Given the description of an element on the screen output the (x, y) to click on. 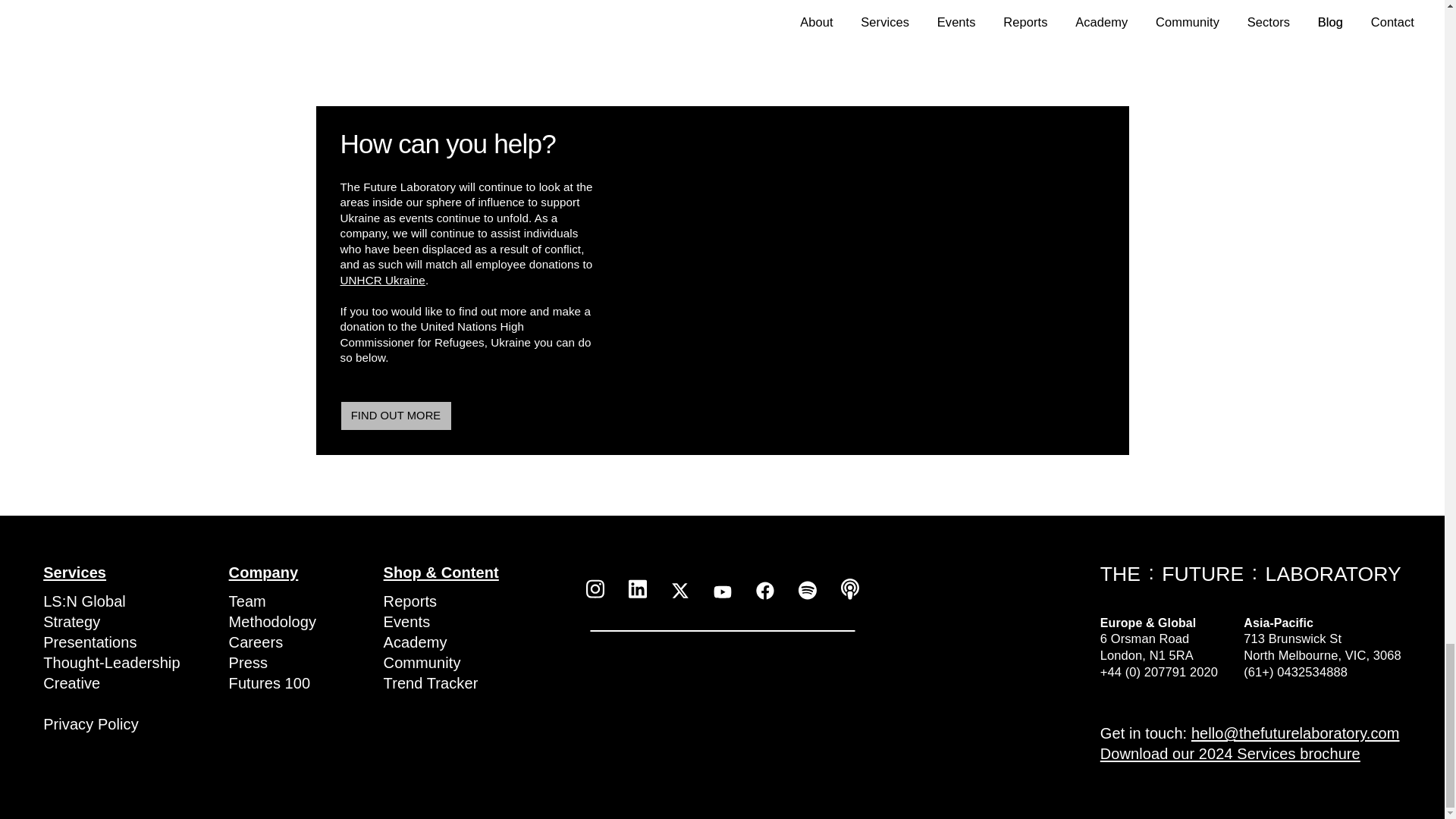
Presentations (89, 641)
Creative (71, 682)
FIND OUT MORE (395, 416)
Services (111, 572)
UNHCR Ukraine (382, 279)
Strategy (71, 621)
Thought-Leadership (111, 662)
LS:N Global (84, 600)
